Given the description of an element on the screen output the (x, y) to click on. 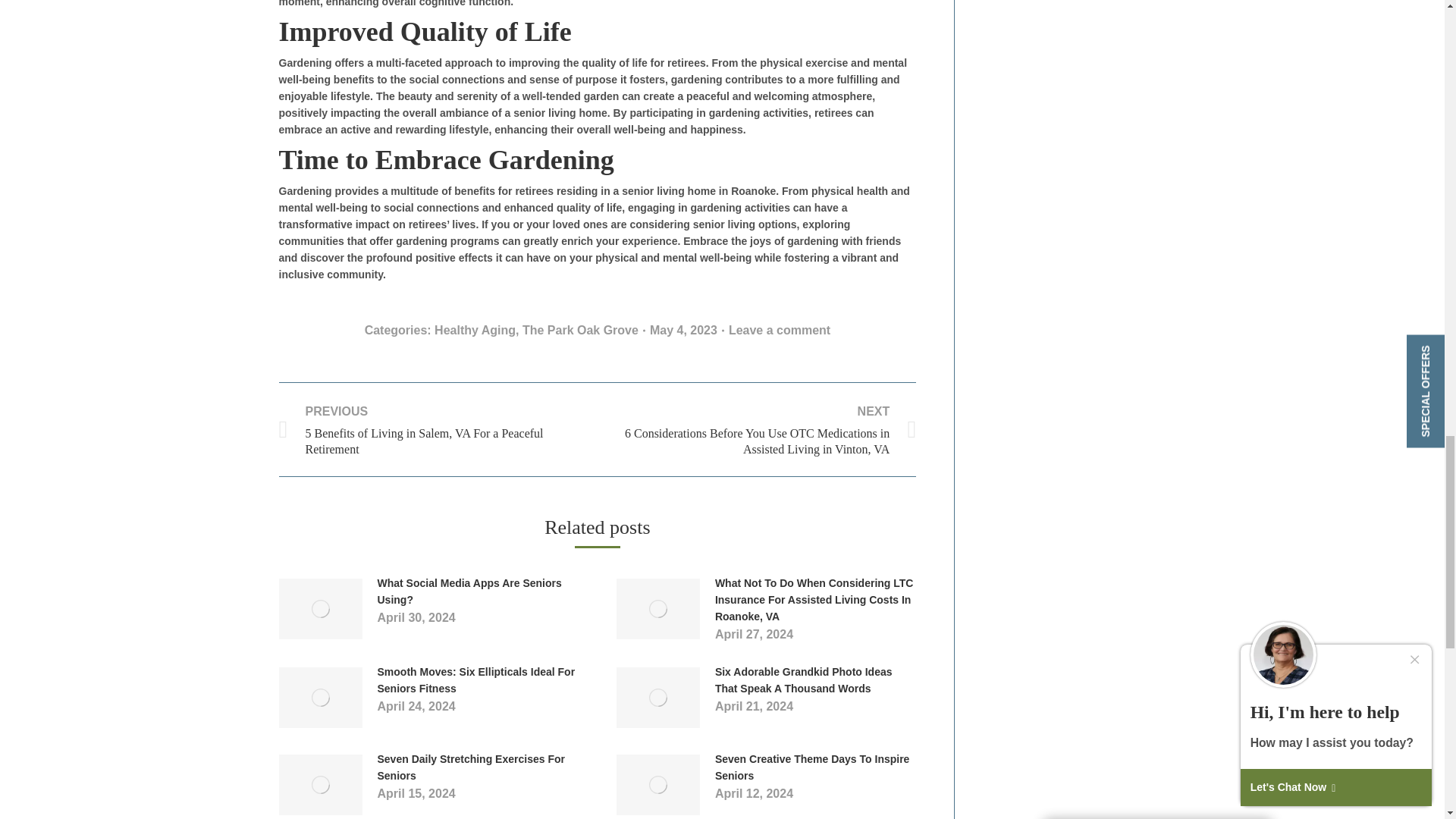
1:43 am (686, 329)
